Given the description of an element on the screen output the (x, y) to click on. 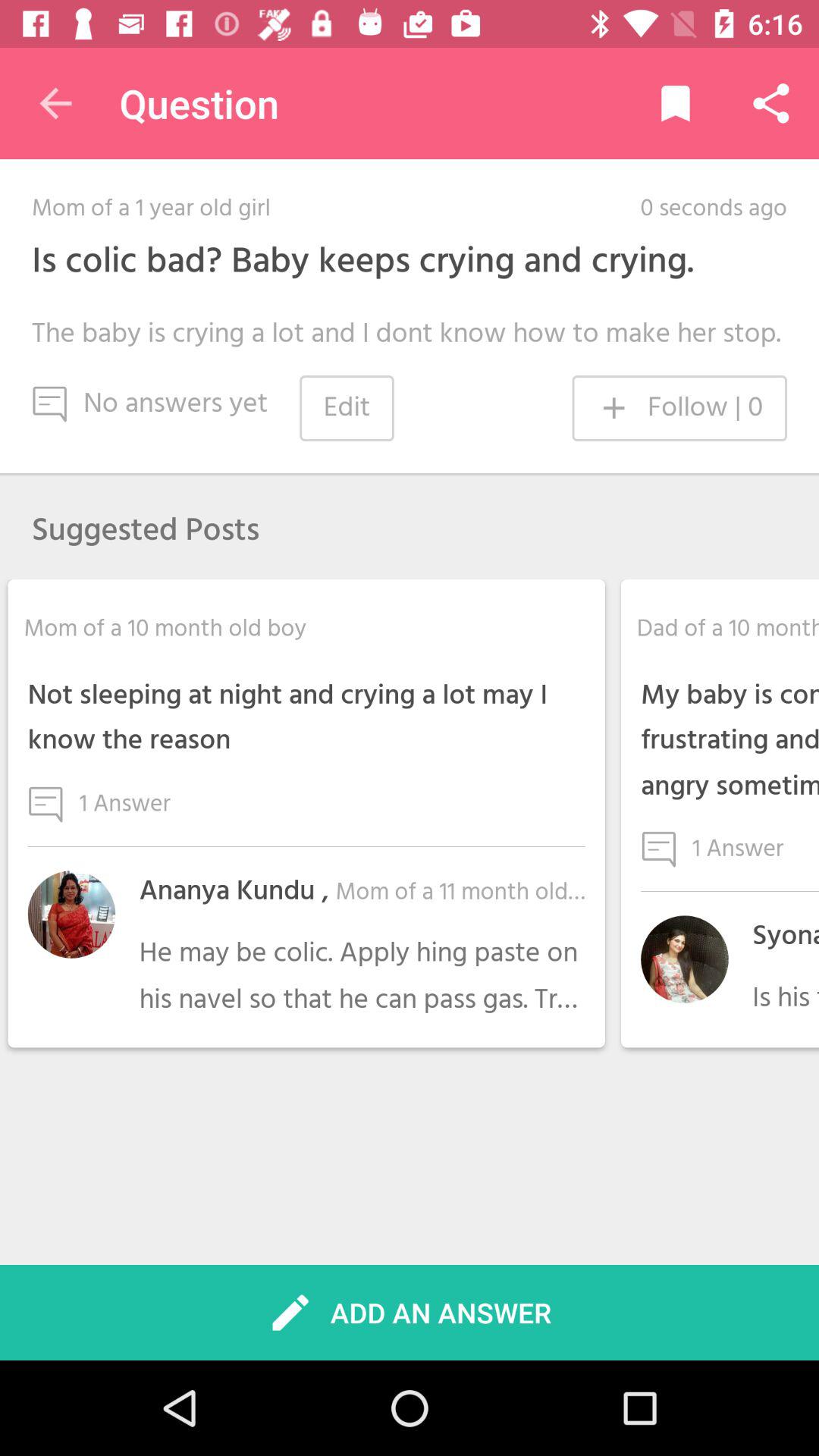
click icon next to the no answers yet (346, 408)
